Given the description of an element on the screen output the (x, y) to click on. 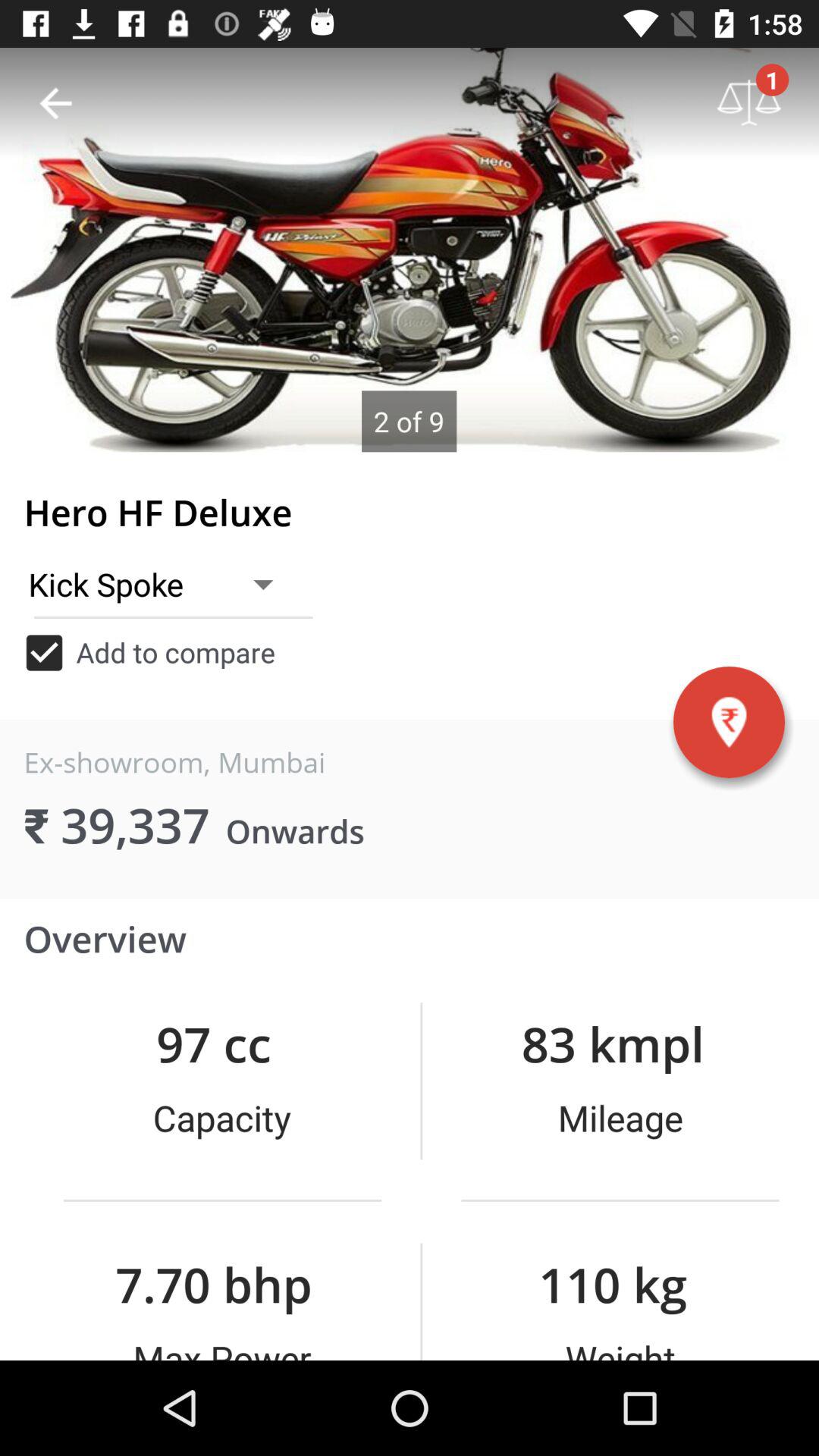
enlarge displayed image (409, 249)
